Given the description of an element on the screen output the (x, y) to click on. 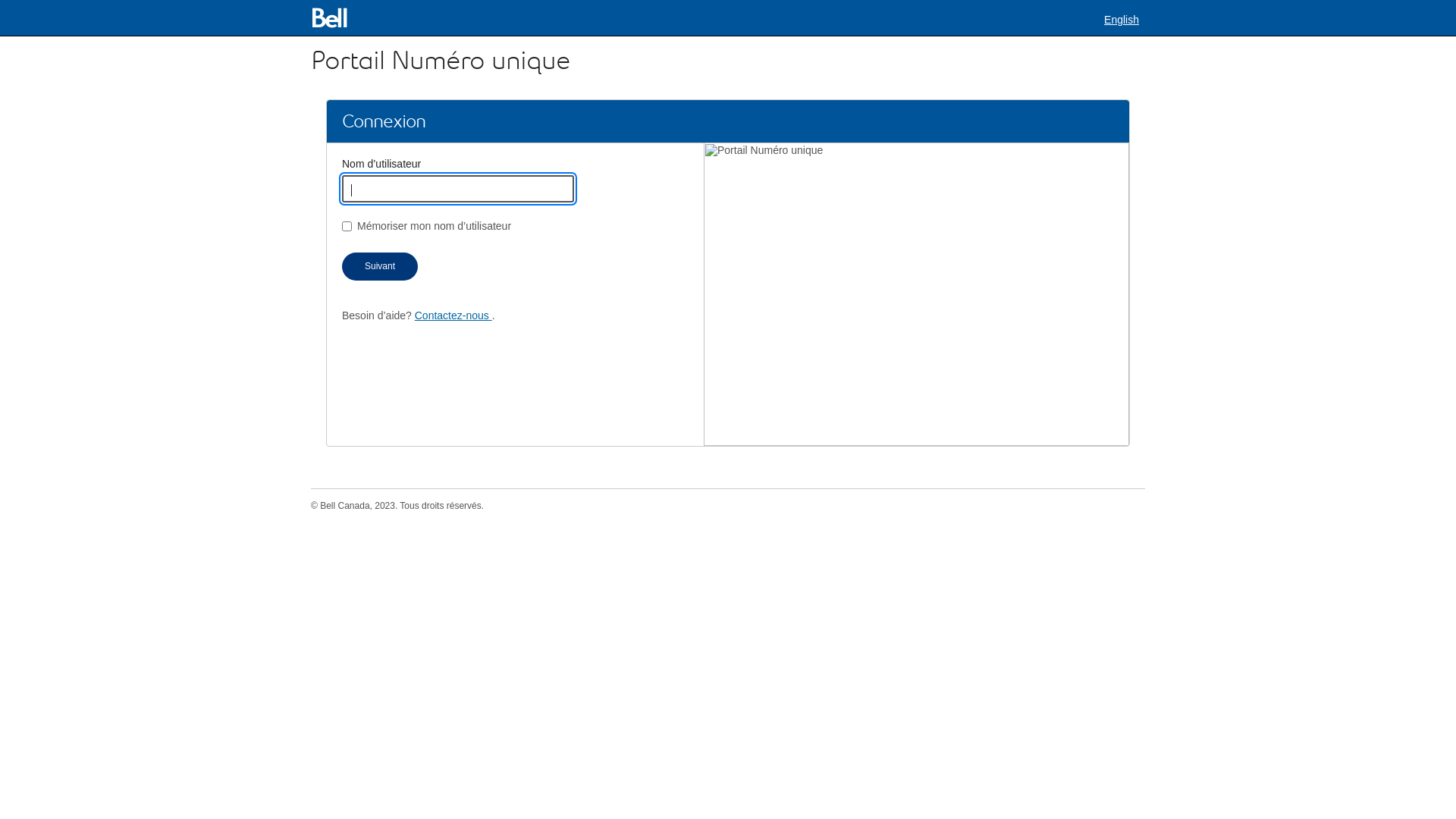
Bell Home Element type: hover (331, 18)
English Element type: text (1121, 19)
Contactez-nous Element type: text (453, 315)
Suivant Element type: text (379, 266)
